Given the description of an element on the screen output the (x, y) to click on. 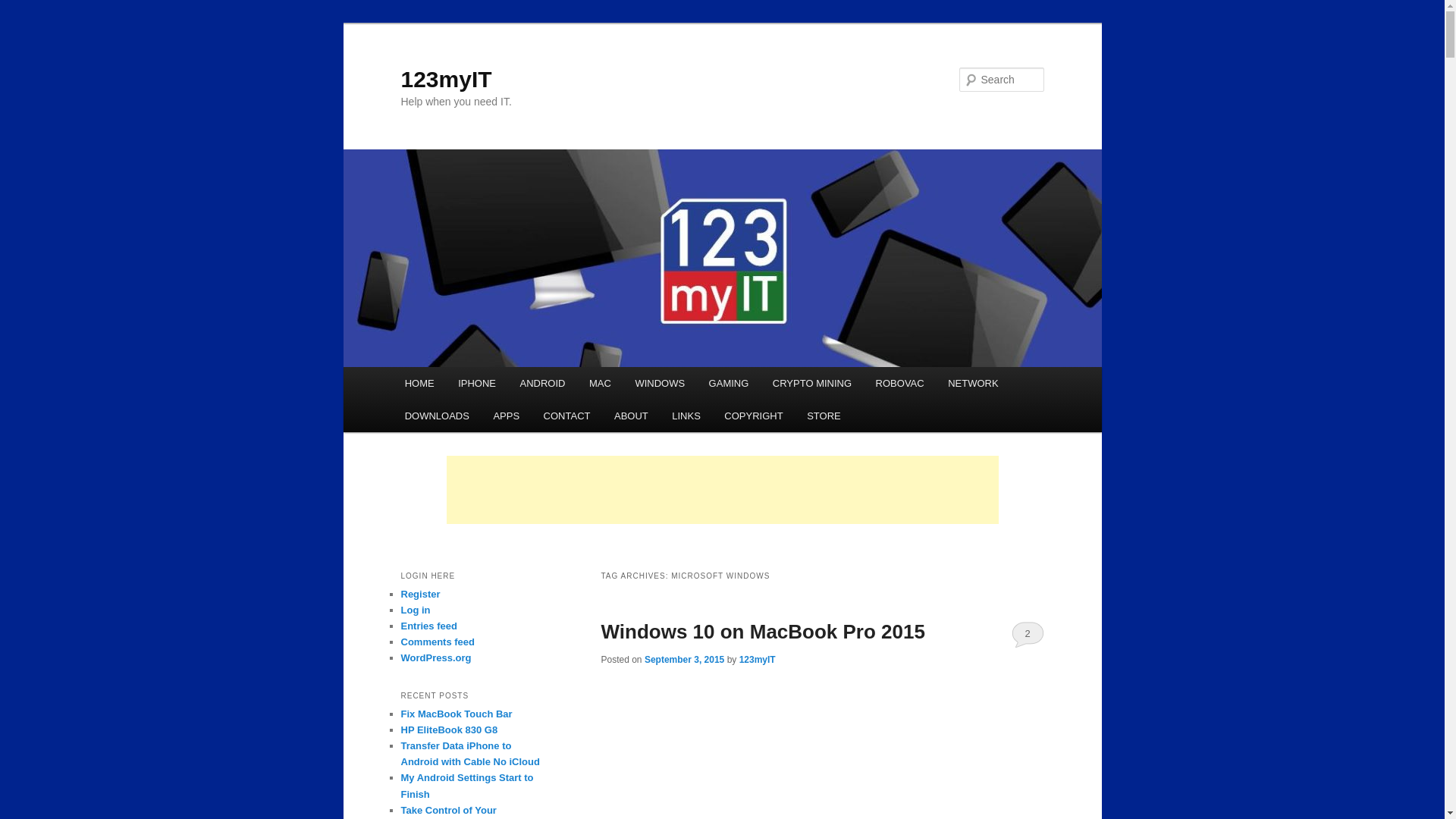
LINKS (687, 415)
12:11 am (684, 659)
Windows 10 on MacBook Pro 2015 (761, 630)
APPS (506, 415)
ANDROID (542, 382)
STORE (822, 415)
DOWNLOADS (437, 415)
COPYRIGHT (753, 415)
123myIT (446, 78)
